Given the description of an element on the screen output the (x, y) to click on. 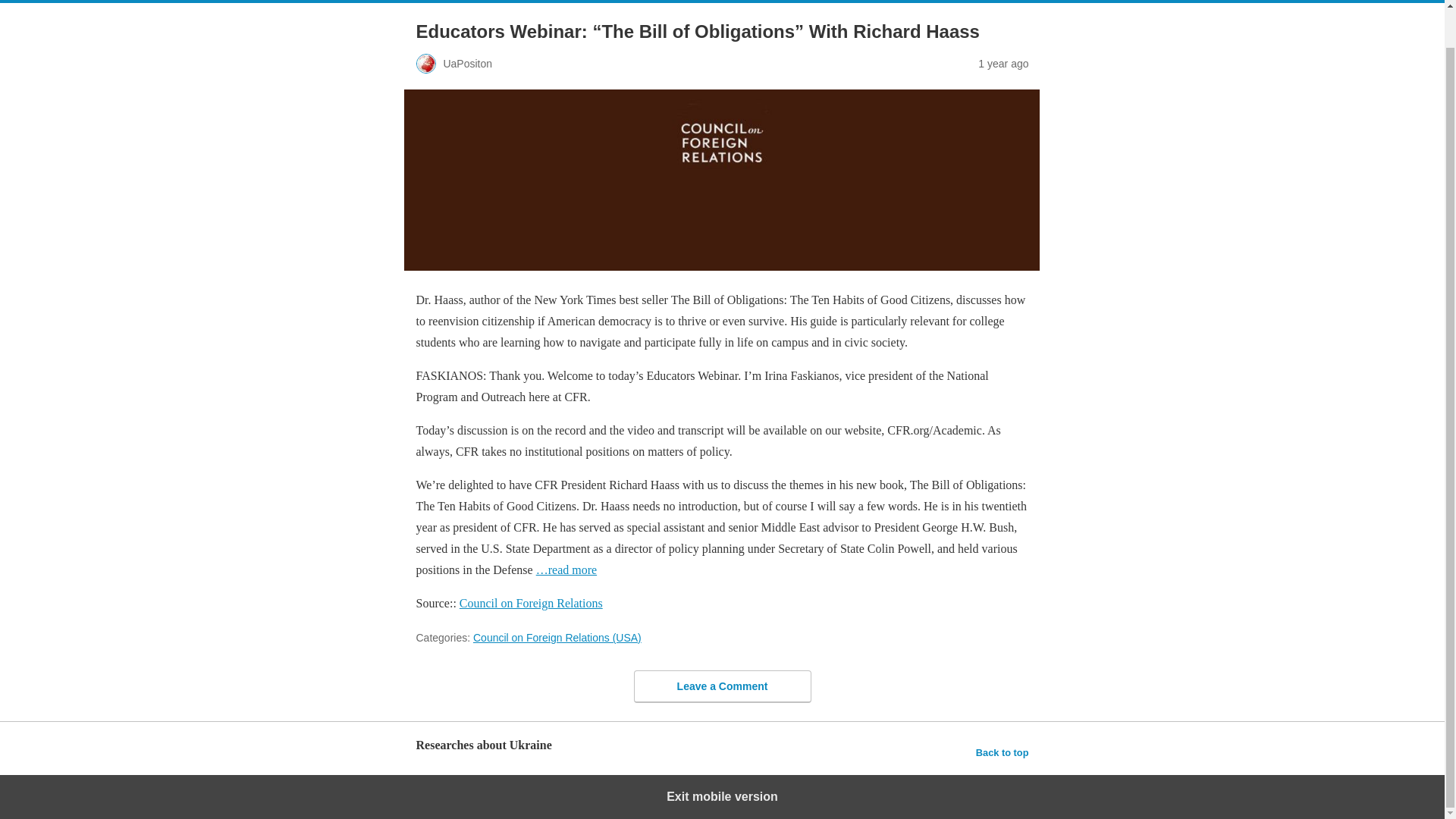
Leave a Comment (721, 686)
Council on Foreign Relations (531, 603)
Back to top (1002, 752)
